Given the description of an element on the screen output the (x, y) to click on. 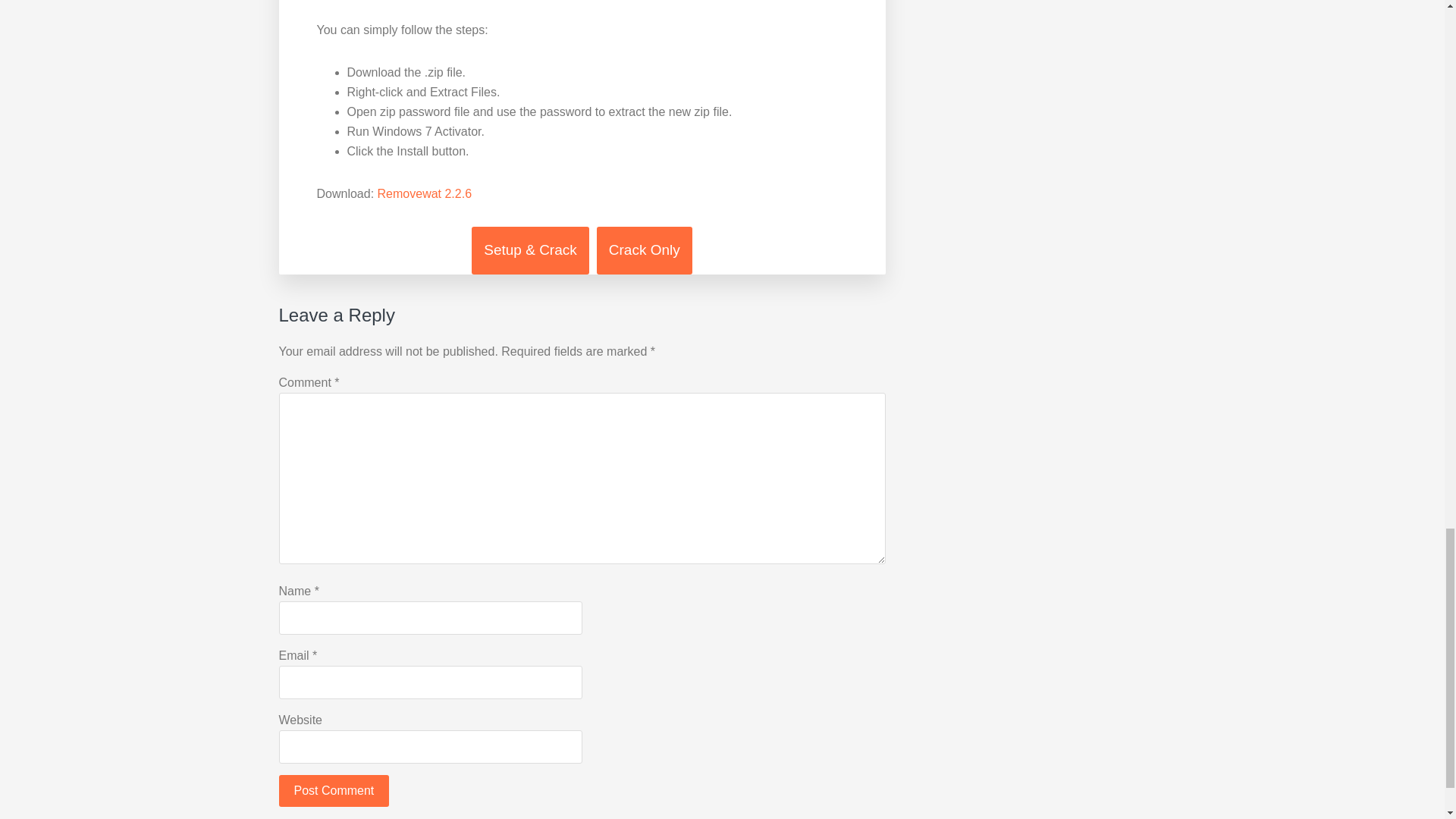
Removewat 2.2.6 (424, 193)
Post Comment (334, 790)
Crack Only (644, 250)
Post Comment (334, 790)
